Given the description of an element on the screen output the (x, y) to click on. 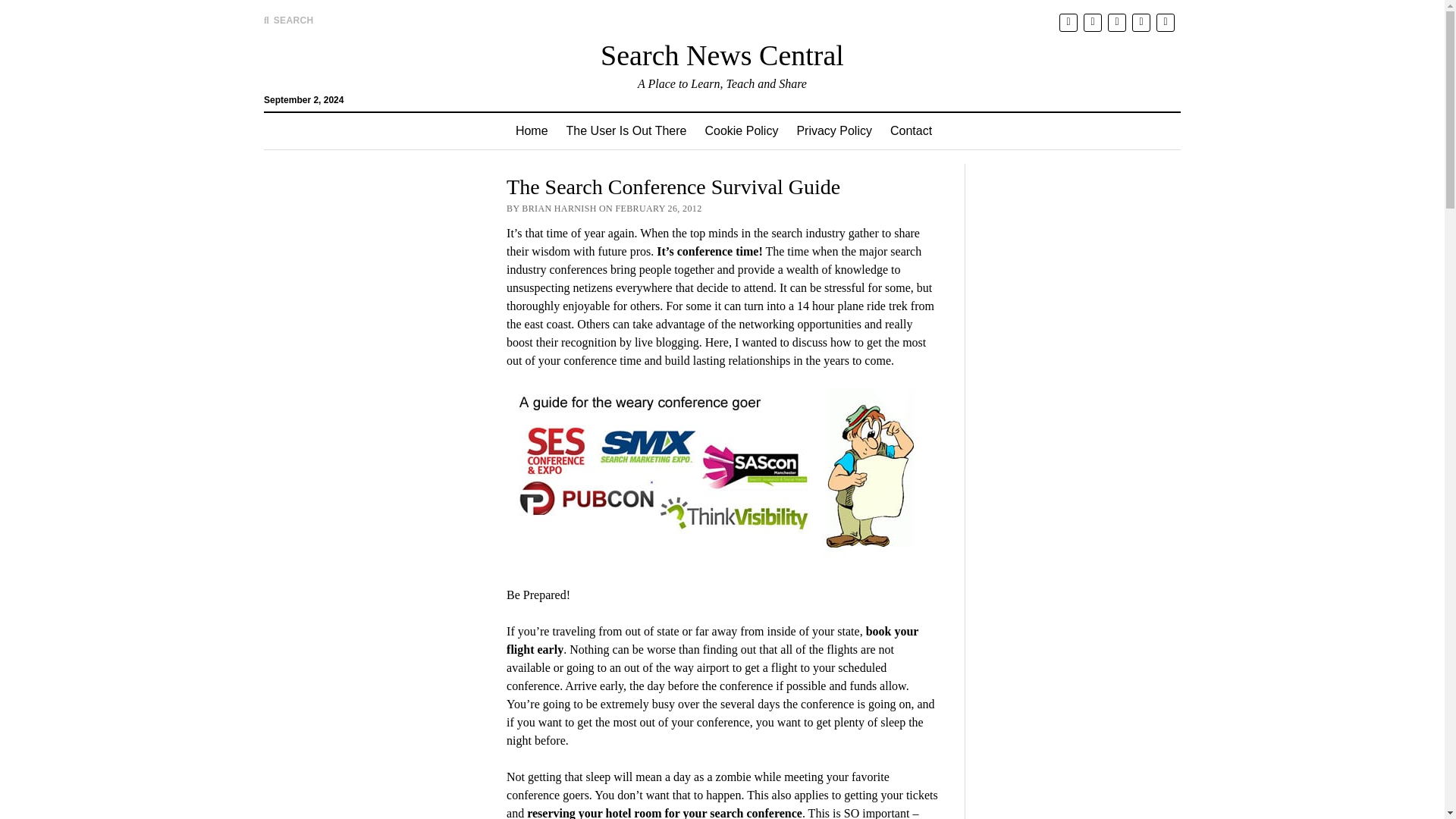
Search News Central (721, 55)
Privacy Policy (833, 131)
Search (945, 129)
SEARCH (288, 20)
The User Is Out There (626, 131)
Contact (910, 131)
Cookie Policy (741, 131)
Home (531, 131)
